Given the description of an element on the screen output the (x, y) to click on. 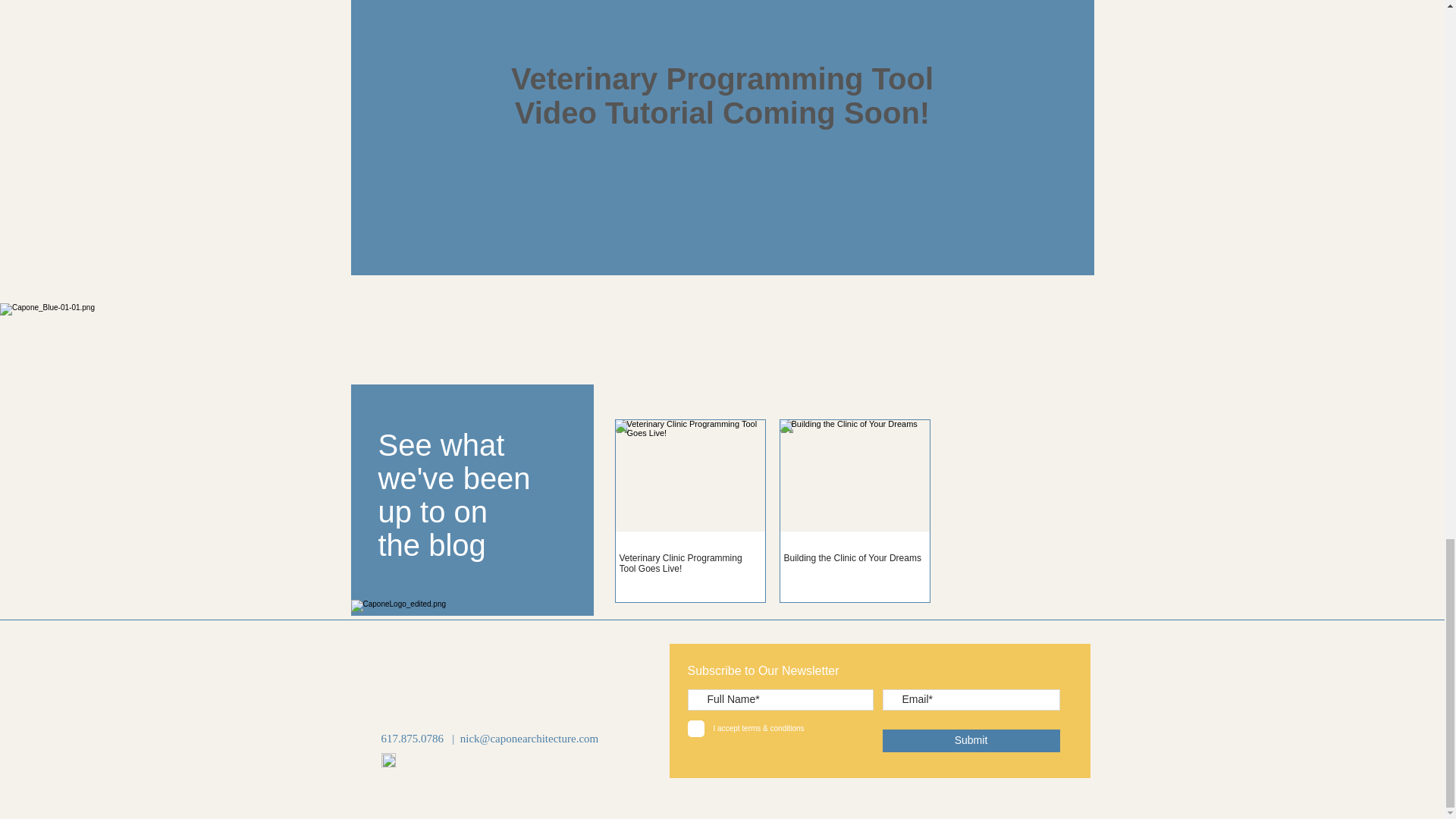
Veterinary Clinic Programming Tool Goes Live! (689, 563)
Submit (970, 740)
Building the Clinic of Your Dreams (855, 557)
linkedin-3-512.png (387, 759)
